Given the description of an element on the screen output the (x, y) to click on. 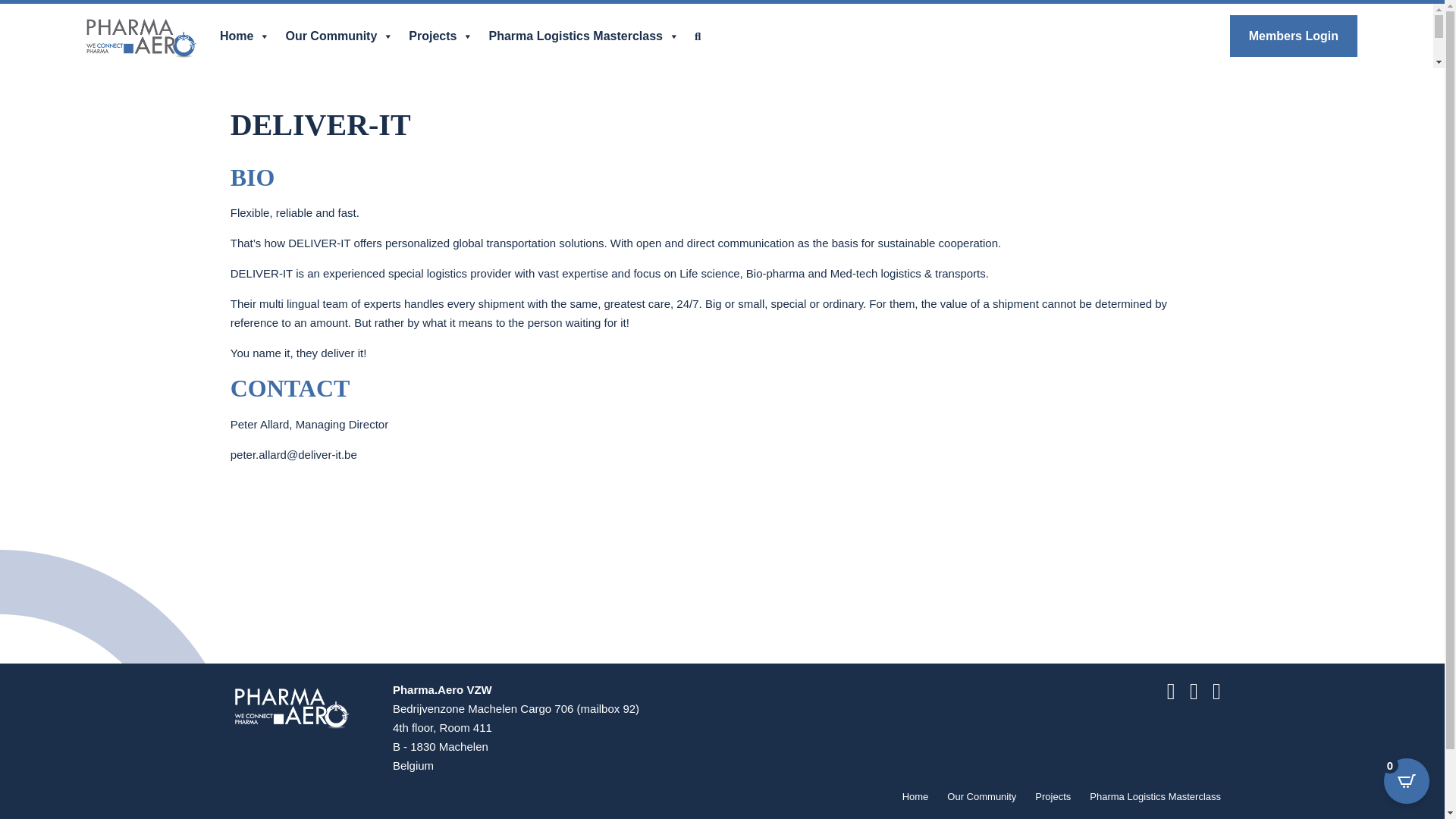
Pharma Logistics Masterclass (582, 36)
Members Login (1293, 35)
Home (245, 36)
Pharma Logistics Masterclass (1155, 796)
Home (915, 796)
Projects (1052, 796)
0 (1406, 780)
Our Community (339, 36)
Pharma.Aero - We connect pharma (140, 35)
Pharma Aero - We connect pharma (291, 706)
